Given the description of an element on the screen output the (x, y) to click on. 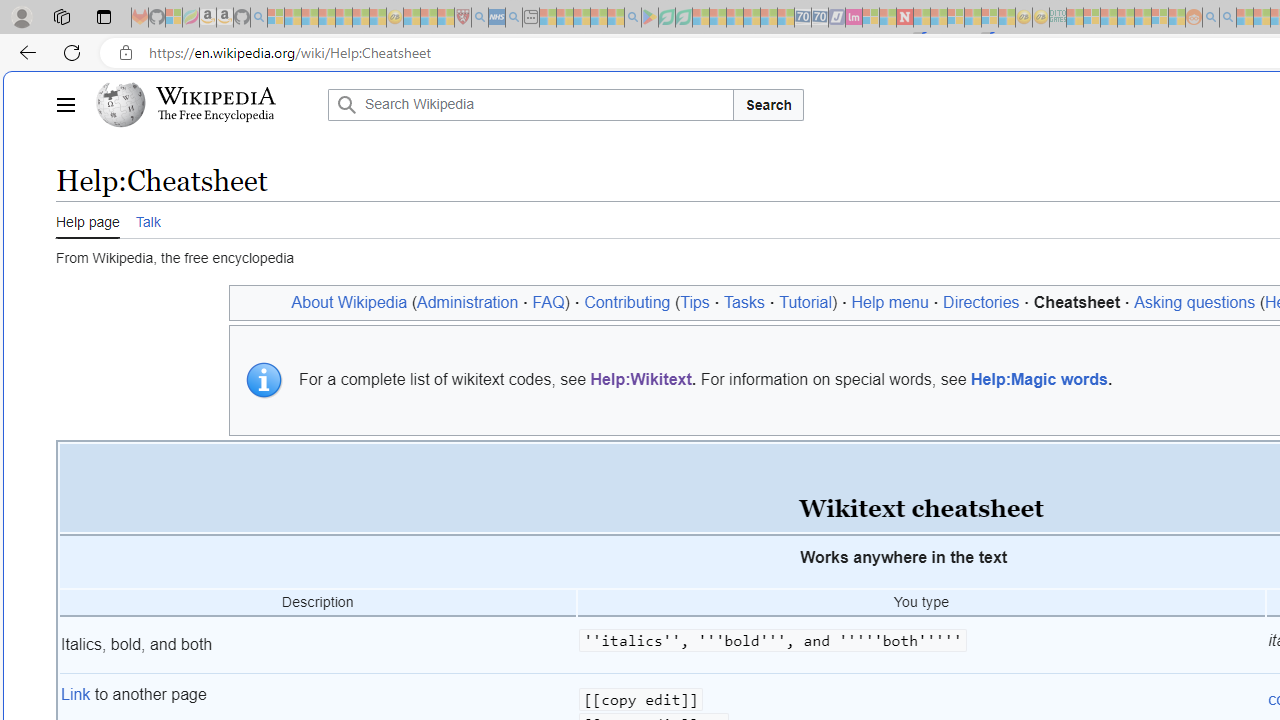
google - Search - Sleeping (632, 17)
You type (921, 603)
